Given the description of an element on the screen output the (x, y) to click on. 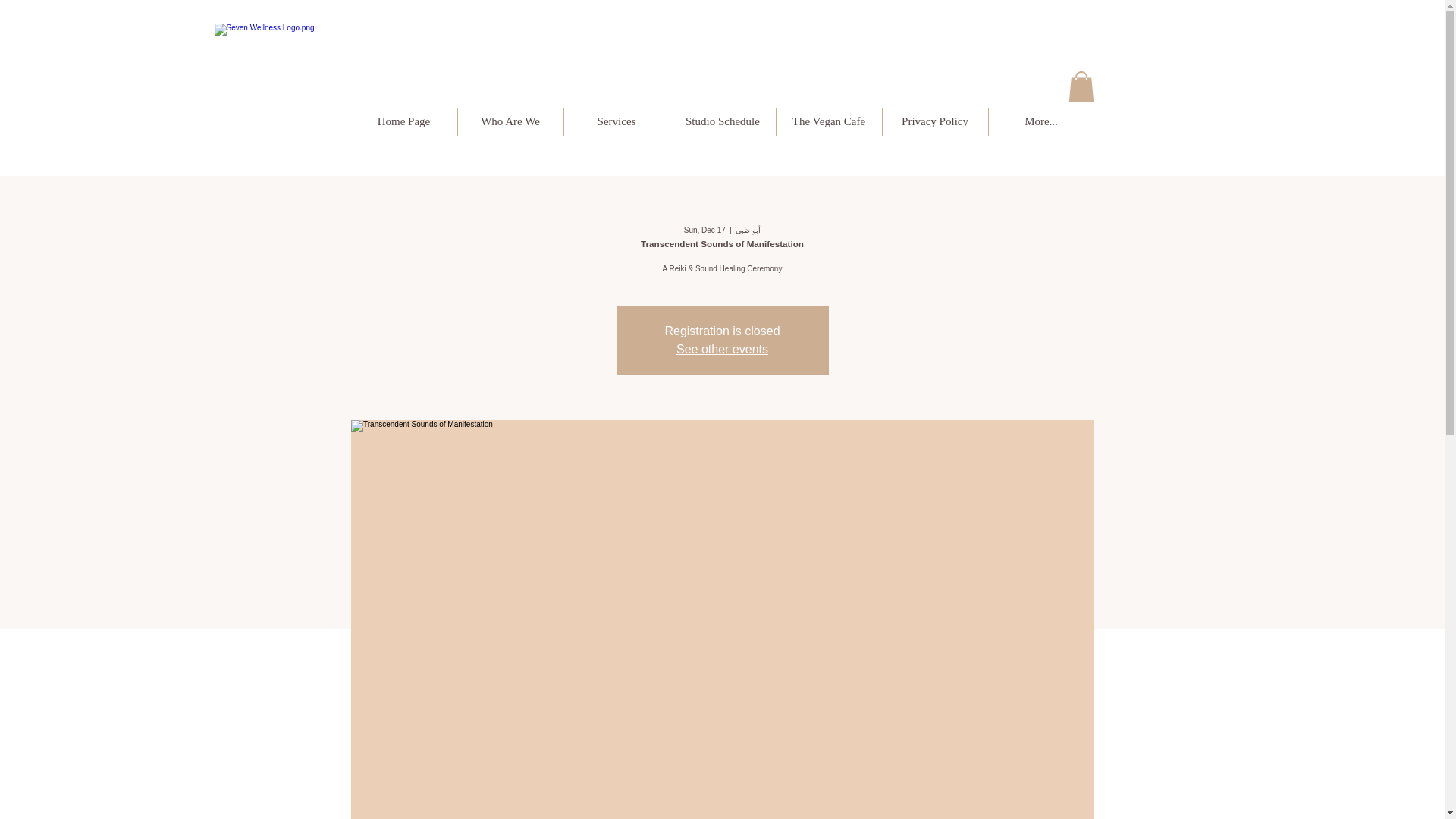
Services (616, 121)
The Vegan Cafe (829, 121)
Privacy Policy (935, 121)
Who Are We (510, 121)
See other events (722, 349)
Home Page (403, 121)
Studio Schedule (722, 121)
